Given the description of an element on the screen output the (x, y) to click on. 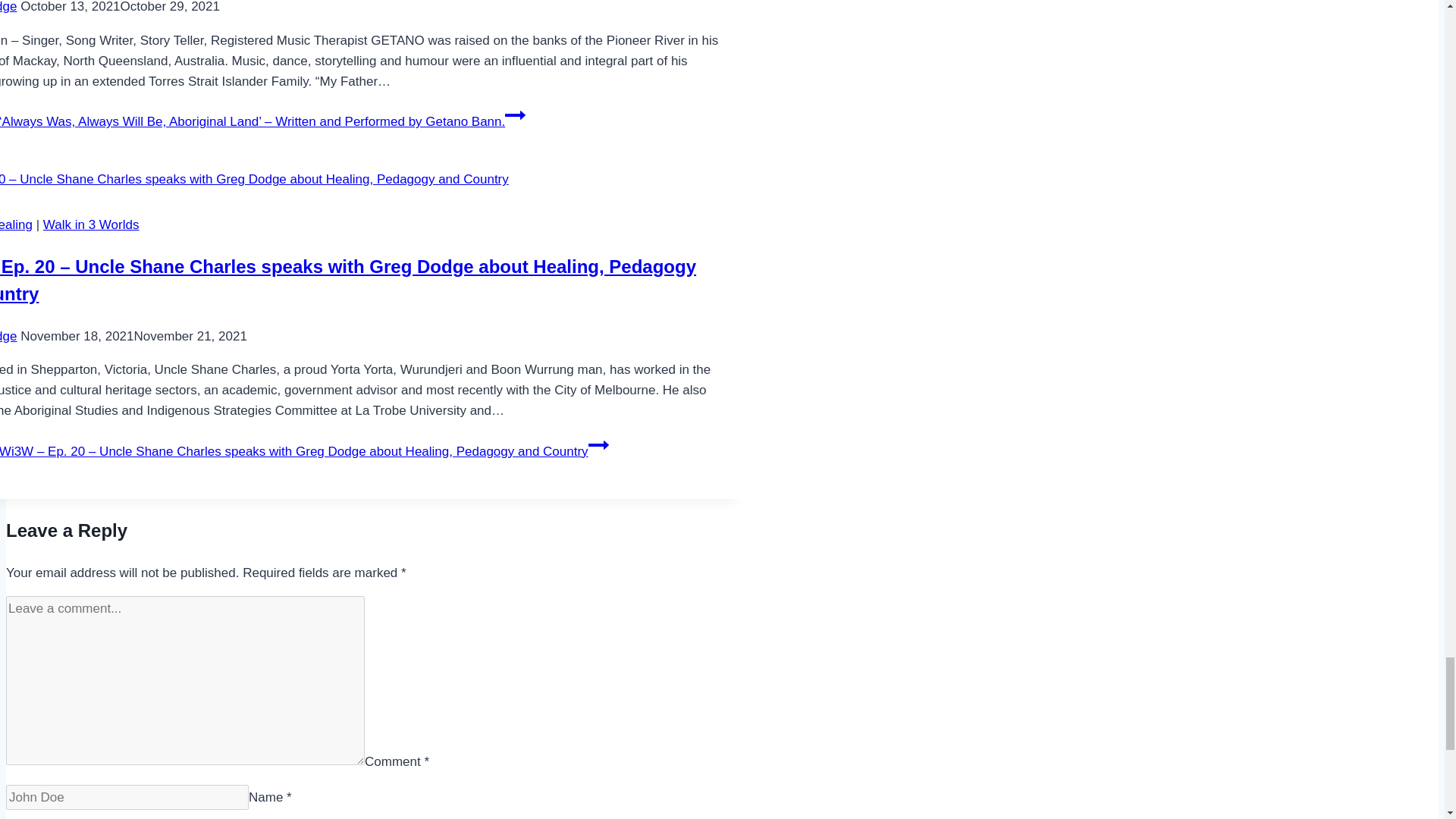
Continue (598, 444)
Continue (515, 115)
